Given the description of an element on the screen output the (x, y) to click on. 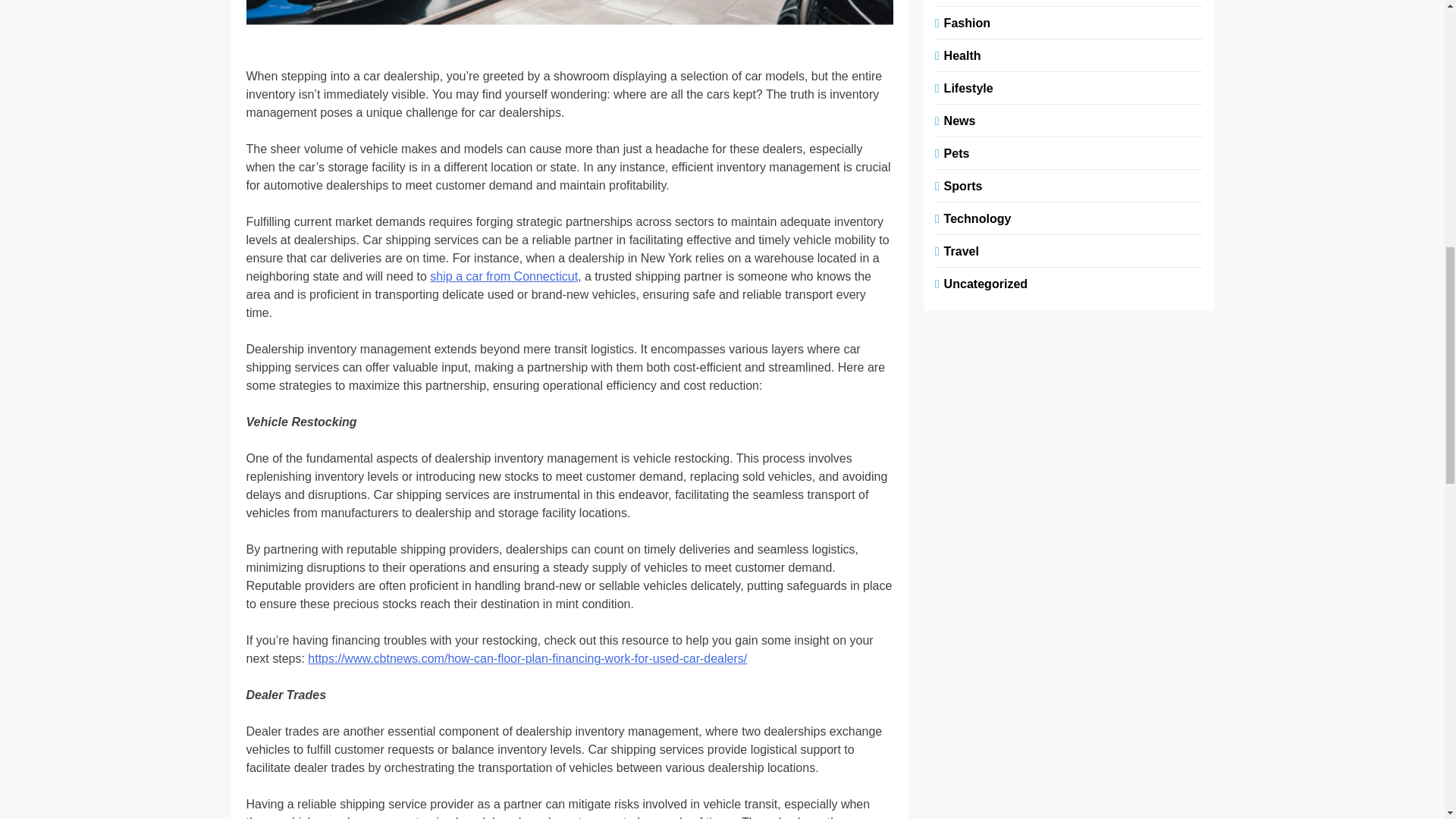
Fashion (964, 21)
ship a car from Connecticut (503, 276)
Health (959, 55)
